Given the description of an element on the screen output the (x, y) to click on. 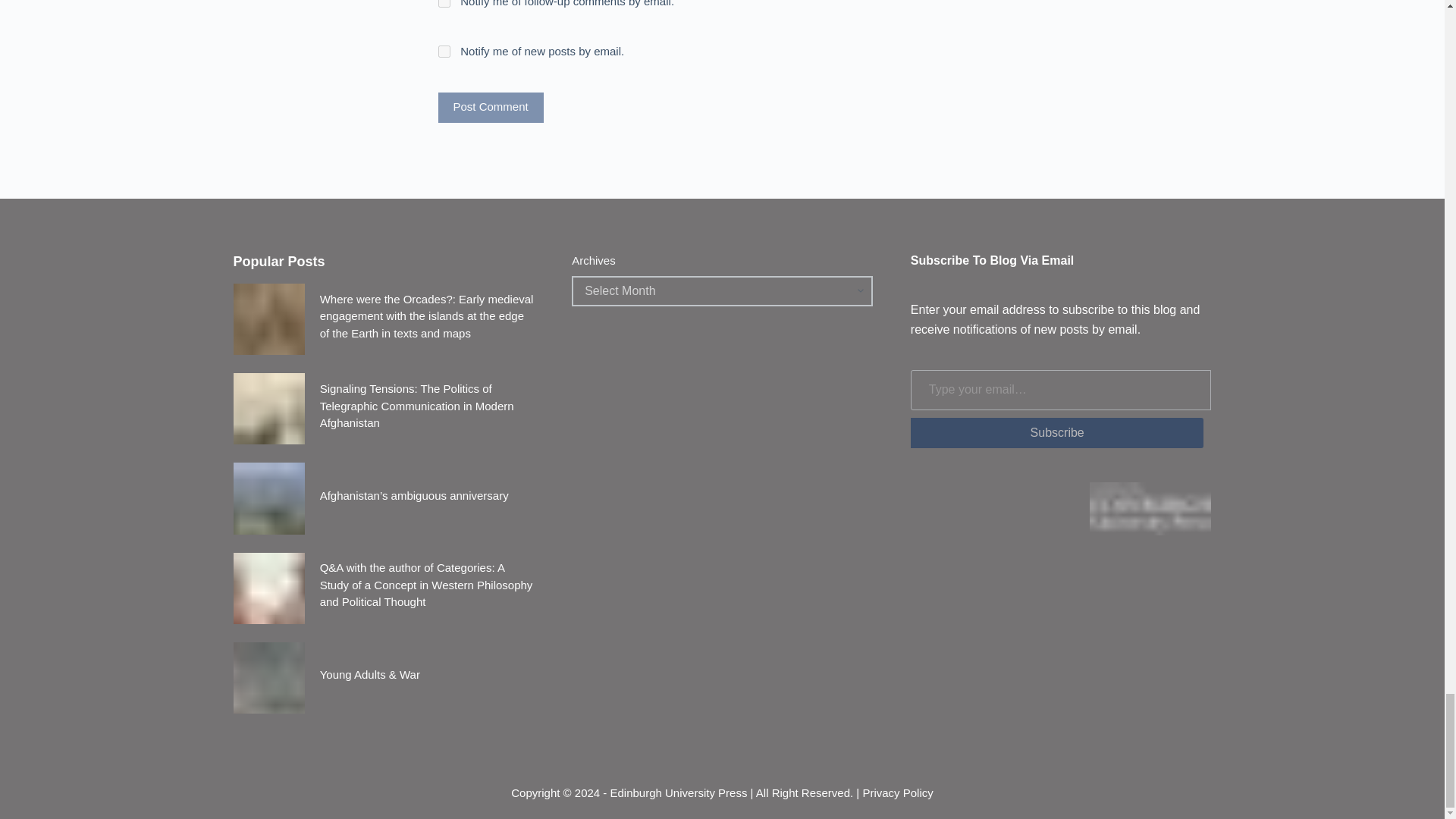
subscribe (443, 3)
subscribe (443, 51)
Please fill in this field. (1061, 390)
